Given the description of an element on the screen output the (x, y) to click on. 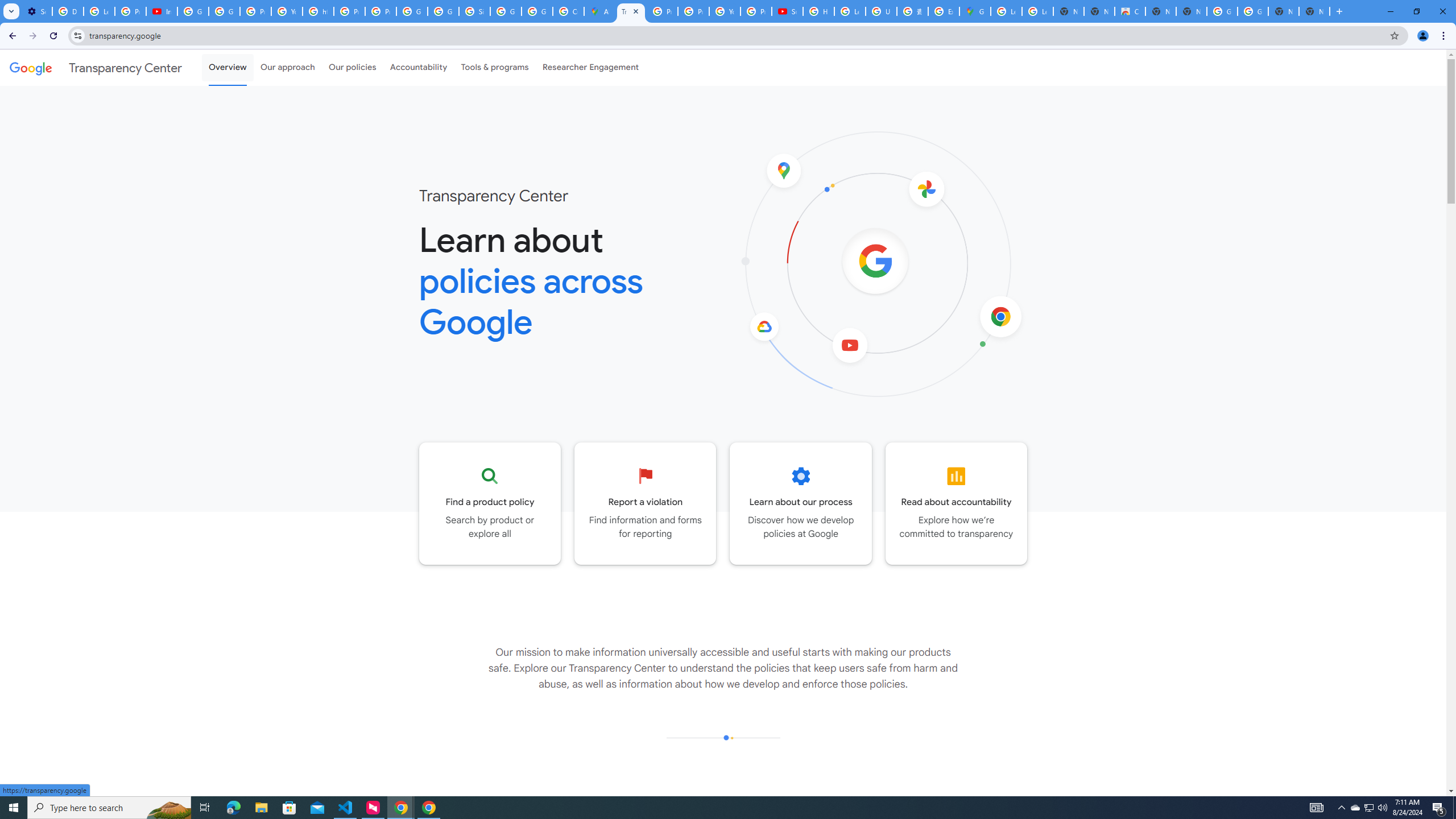
Go to the Reporting and appeals page (645, 503)
Go to the Our process page (800, 503)
Google Maps (974, 11)
New Tab (1314, 11)
